Given the description of an element on the screen output the (x, y) to click on. 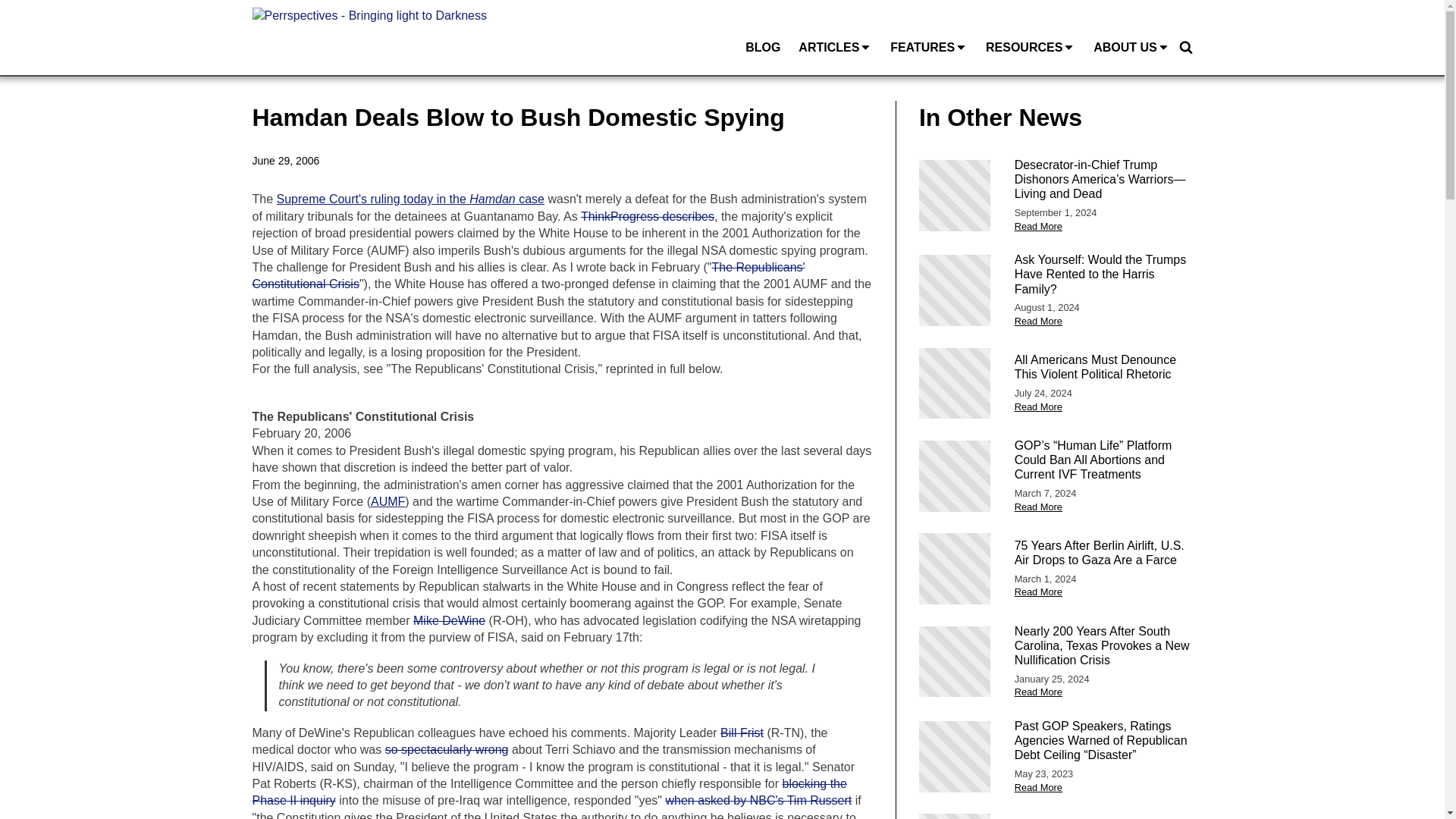
Supreme Court's ruling today in the Hamdan case (410, 198)
FEATURES (928, 48)
blocking the Phase II inquiry (548, 791)
ARTICLES (834, 48)
BLOG (762, 48)
ThinkProgress describes (647, 215)
RESOURCES (1030, 48)
Mike DeWine (448, 620)
Bill Frist (741, 732)
AUMF (387, 501)
